Given the description of an element on the screen output the (x, y) to click on. 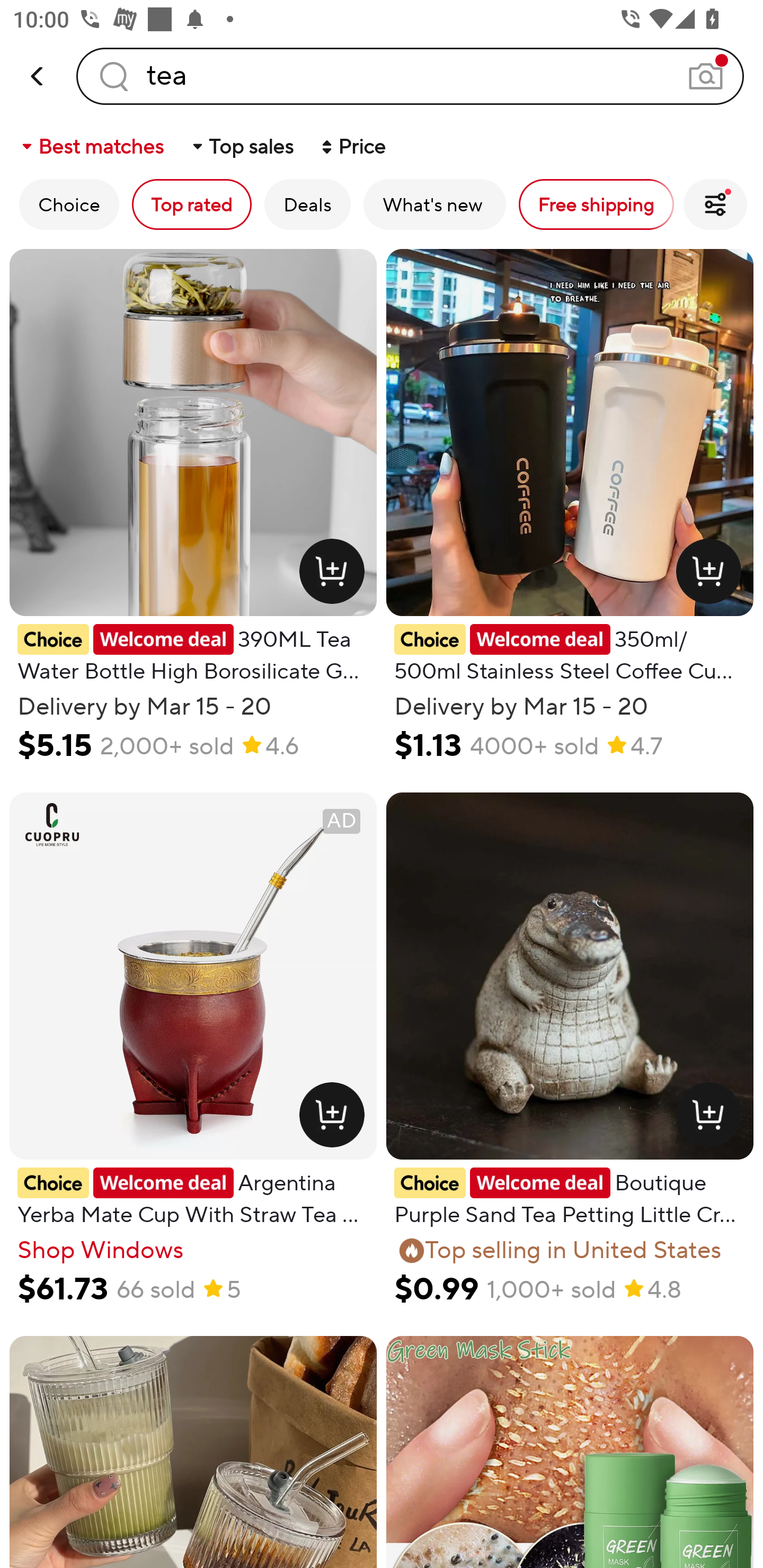
back (38, 75)
tea Search query (409, 76)
tea Search query (409, 76)
Best matches (91, 146)
Top sales (241, 146)
Price (352, 146)
Choice (69, 204)
Top rated (191, 204)
Deals (307, 204)
What's new  (434, 204)
Free shipping (595, 204)
